Given the description of an element on the screen output the (x, y) to click on. 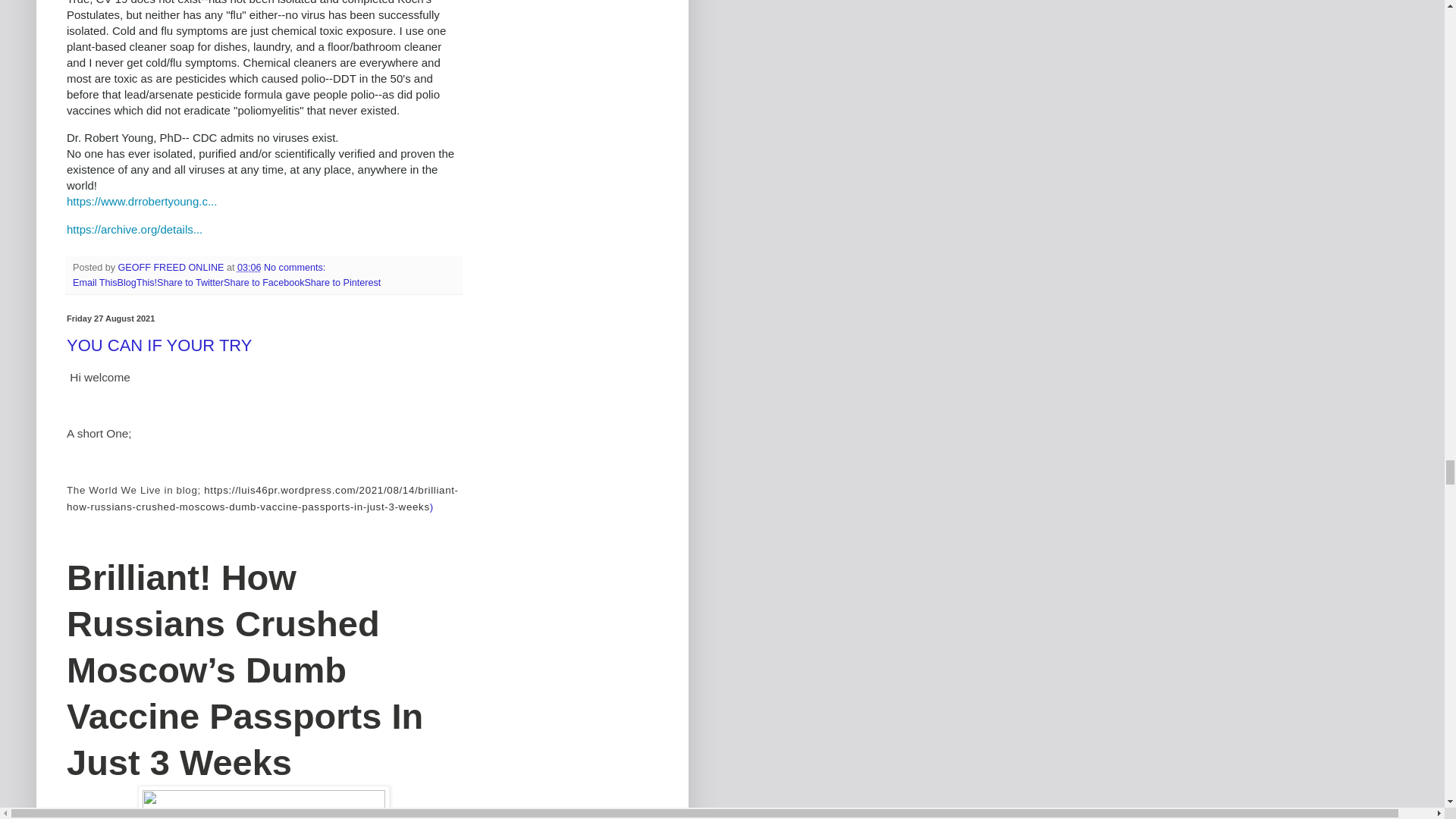
GEOFF FREED ONLINE (172, 267)
03:06 (249, 267)
permanent link (249, 267)
BlogThis! (137, 282)
Email This (94, 282)
No comments: (293, 267)
Share to Pinterest (342, 282)
BlogThis! (137, 282)
author profile (172, 267)
Share to Twitter (190, 282)
Share to Facebook (264, 282)
Email This (94, 282)
